Given the description of an element on the screen output the (x, y) to click on. 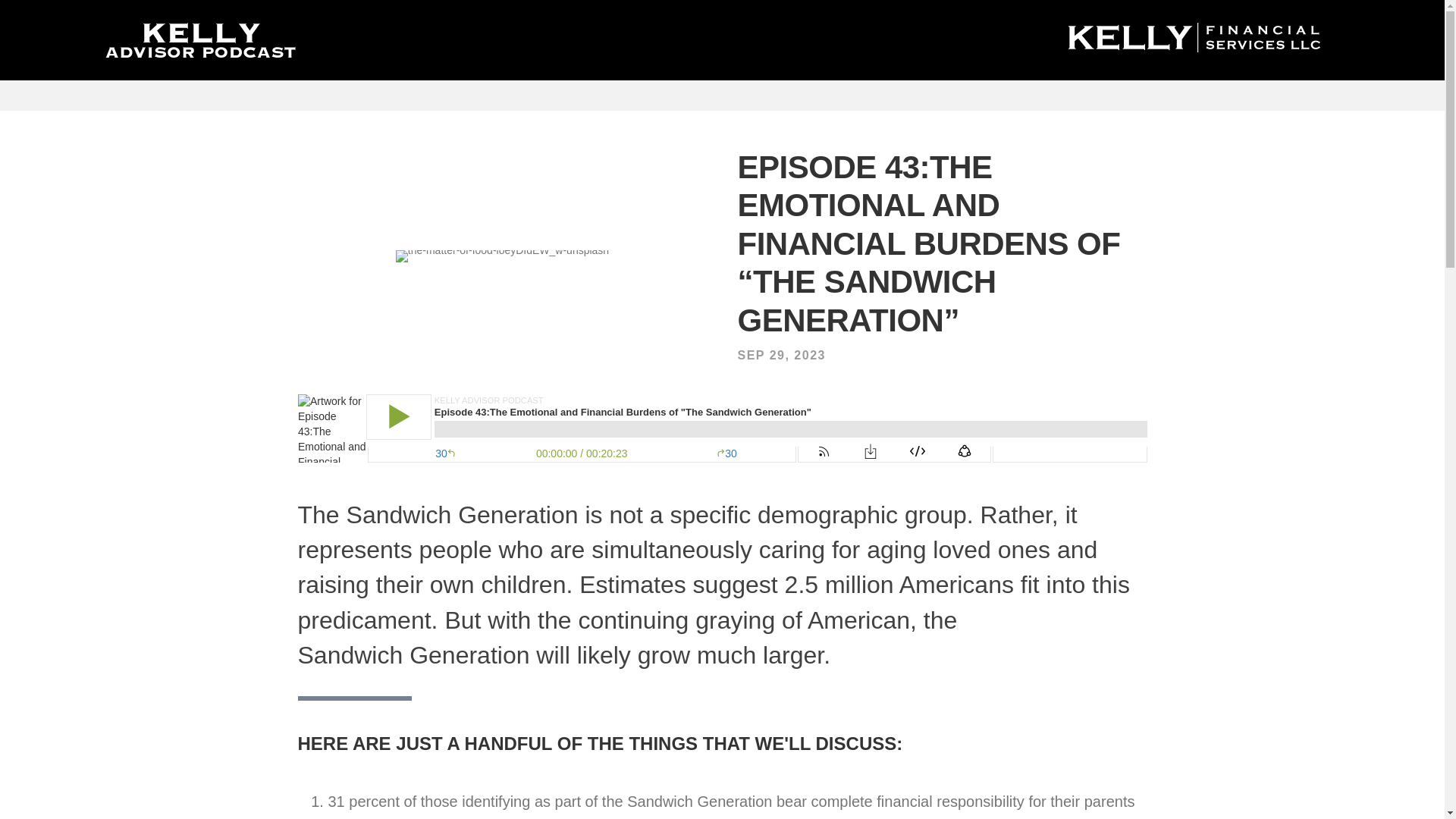
Libsyn Player (722, 427)
podcast-logo.png (199, 39)
kelly-financial-services-logo-white.png (1194, 37)
